Given the description of an element on the screen output the (x, y) to click on. 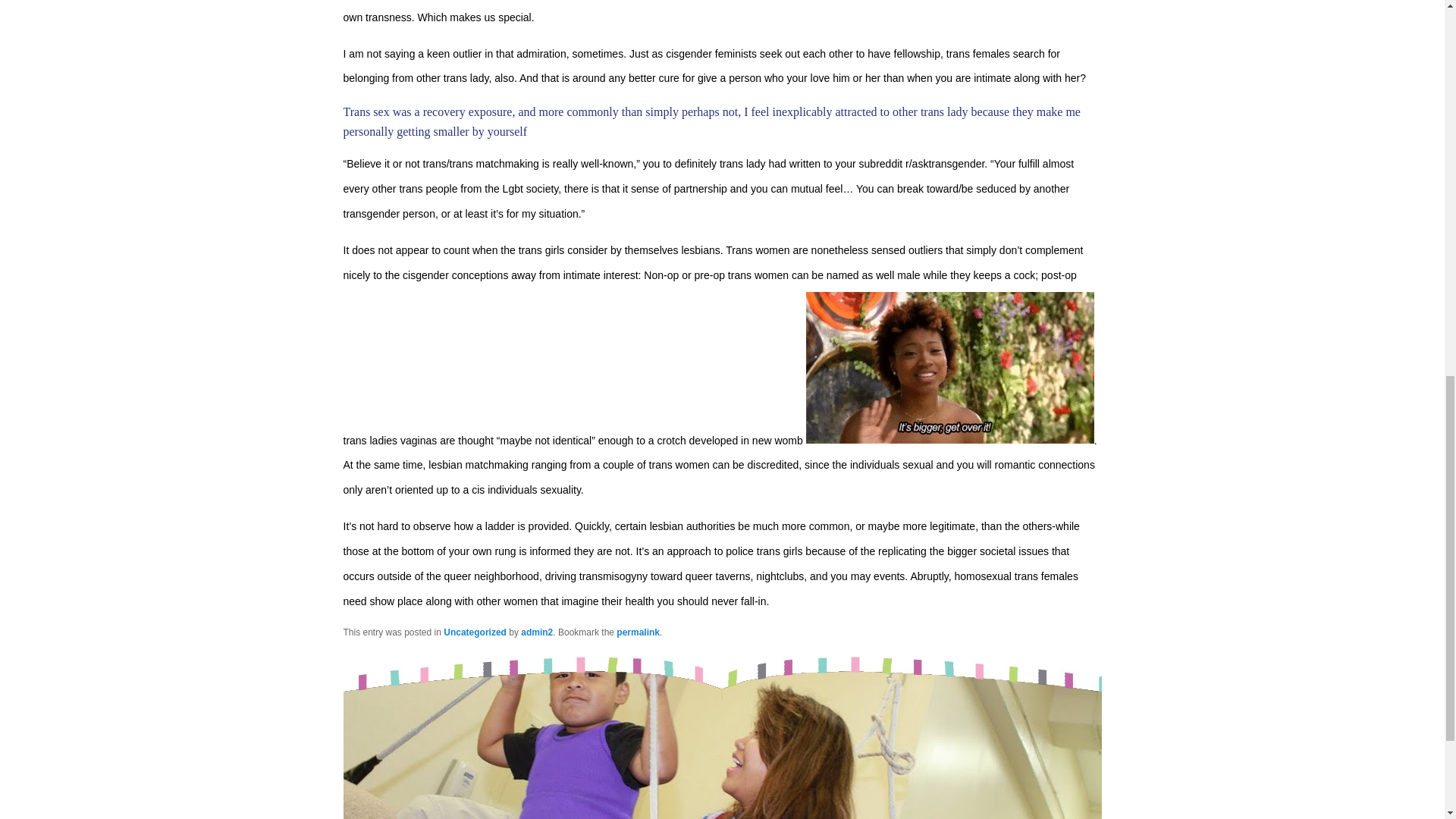
permalink (637, 632)
admin2 (537, 632)
Uncategorized (475, 632)
